Given the description of an element on the screen output the (x, y) to click on. 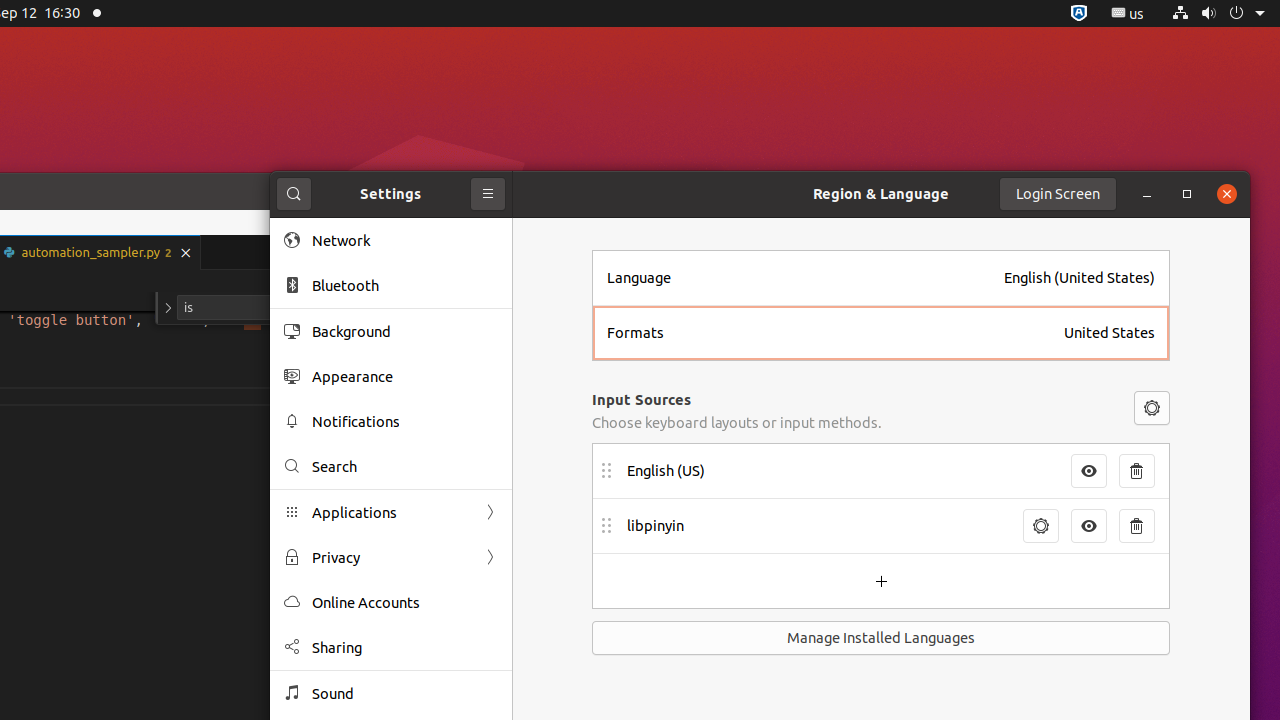
libpinyin Element type: label (819, 526)
Notifications Element type: label (405, 421)
English (US) Element type: label (843, 471)
Close Element type: push-button (1227, 194)
Login Screen Element type: toggle-button (1058, 194)
